Given the description of an element on the screen output the (x, y) to click on. 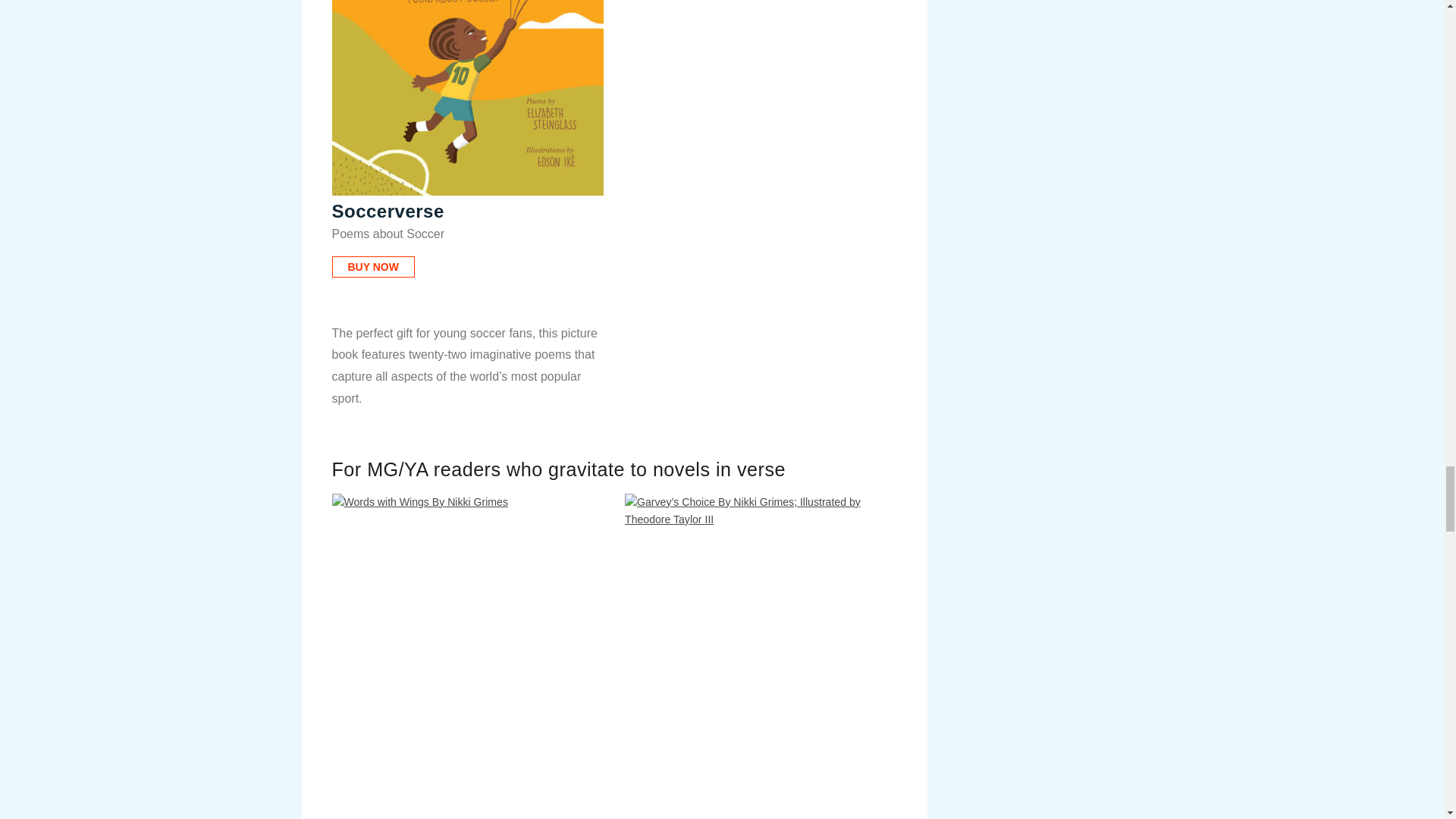
Soccerverse (467, 98)
